Given the description of an element on the screen output the (x, y) to click on. 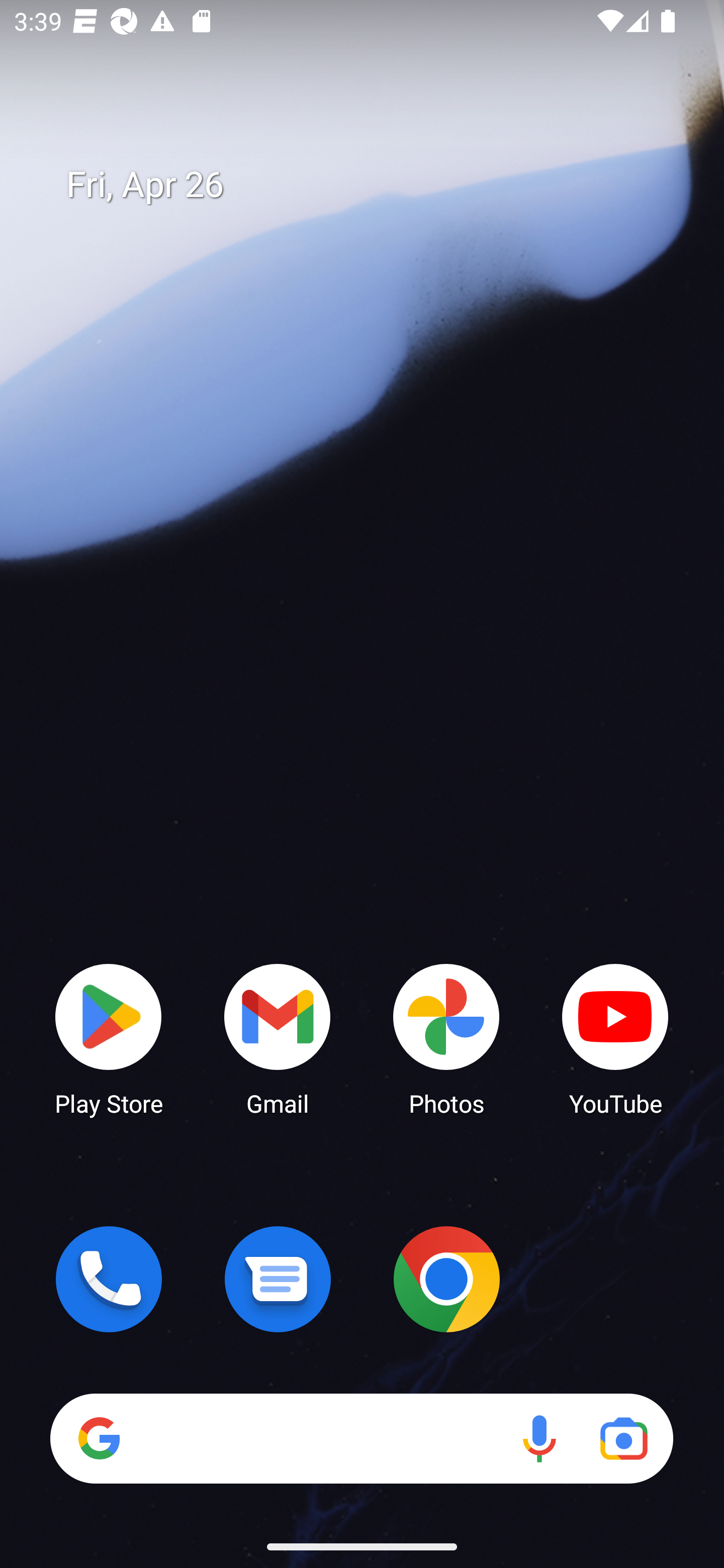
Fri, Apr 26 (375, 184)
Play Store (108, 1038)
Gmail (277, 1038)
Photos (445, 1038)
YouTube (615, 1038)
Phone (108, 1279)
Messages (277, 1279)
Chrome (446, 1279)
Search Voice search Google Lens (361, 1438)
Voice search (539, 1438)
Google Lens (623, 1438)
